Given the description of an element on the screen output the (x, y) to click on. 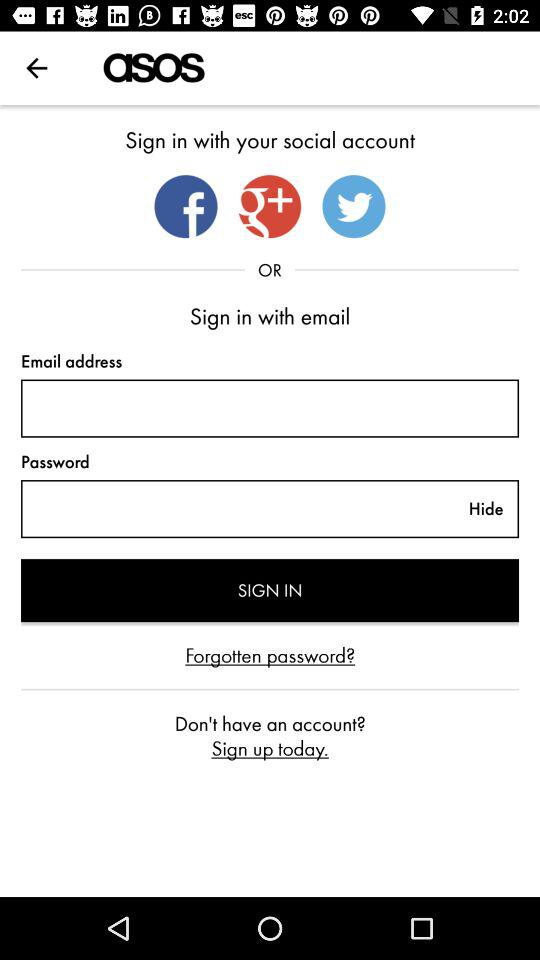
enter text (270, 408)
